Given the description of an element on the screen output the (x, y) to click on. 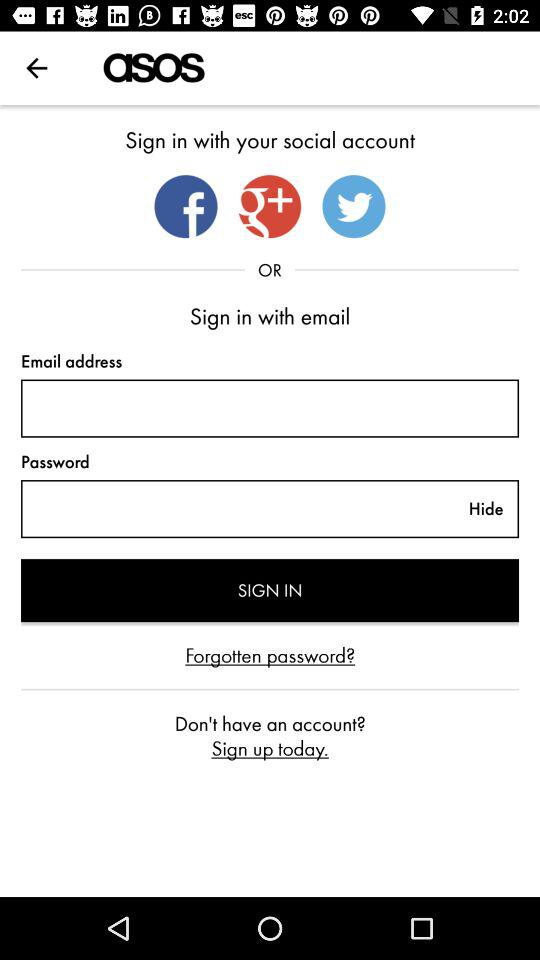
enter text (270, 408)
